Given the description of an element on the screen output the (x, y) to click on. 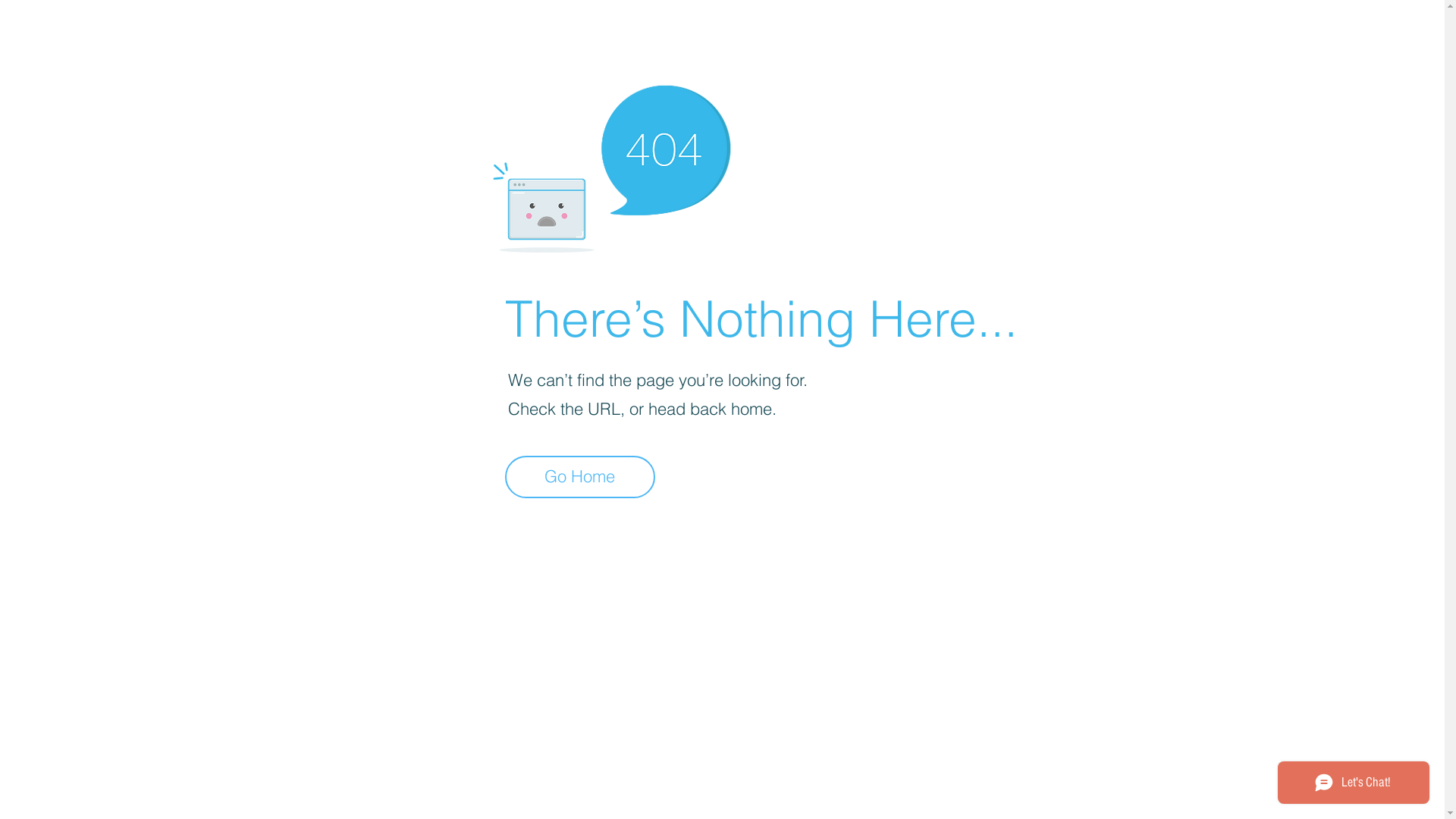
Go Home Element type: text (580, 476)
404-icon_2.png Element type: hover (610, 164)
